Given the description of an element on the screen output the (x, y) to click on. 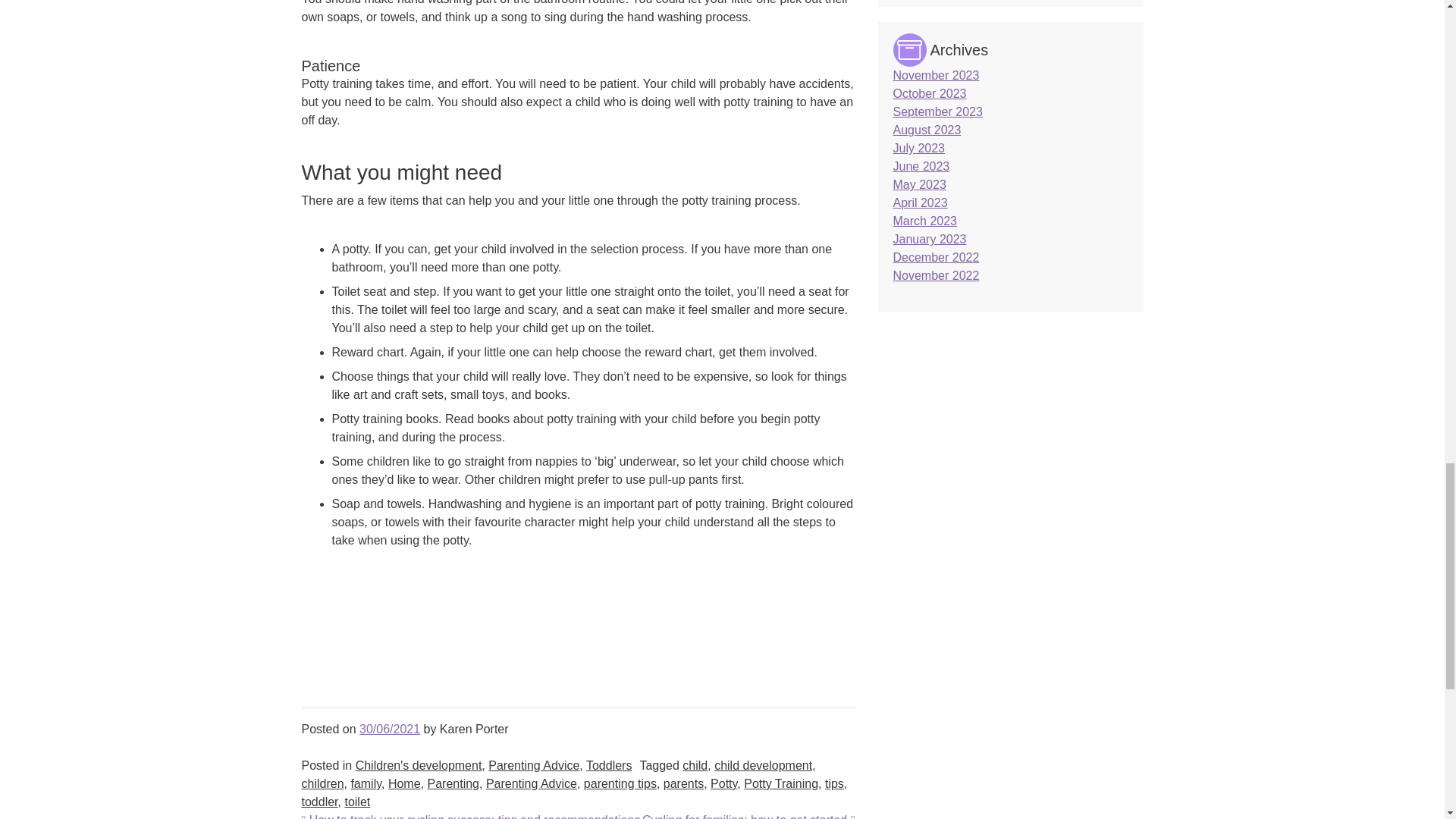
Parenting (452, 783)
Home (404, 783)
Parenting Advice (533, 765)
children (322, 783)
family (365, 783)
child (694, 765)
child development (763, 765)
Toddlers (608, 765)
Children's development (418, 765)
